Given the description of an element on the screen output the (x, y) to click on. 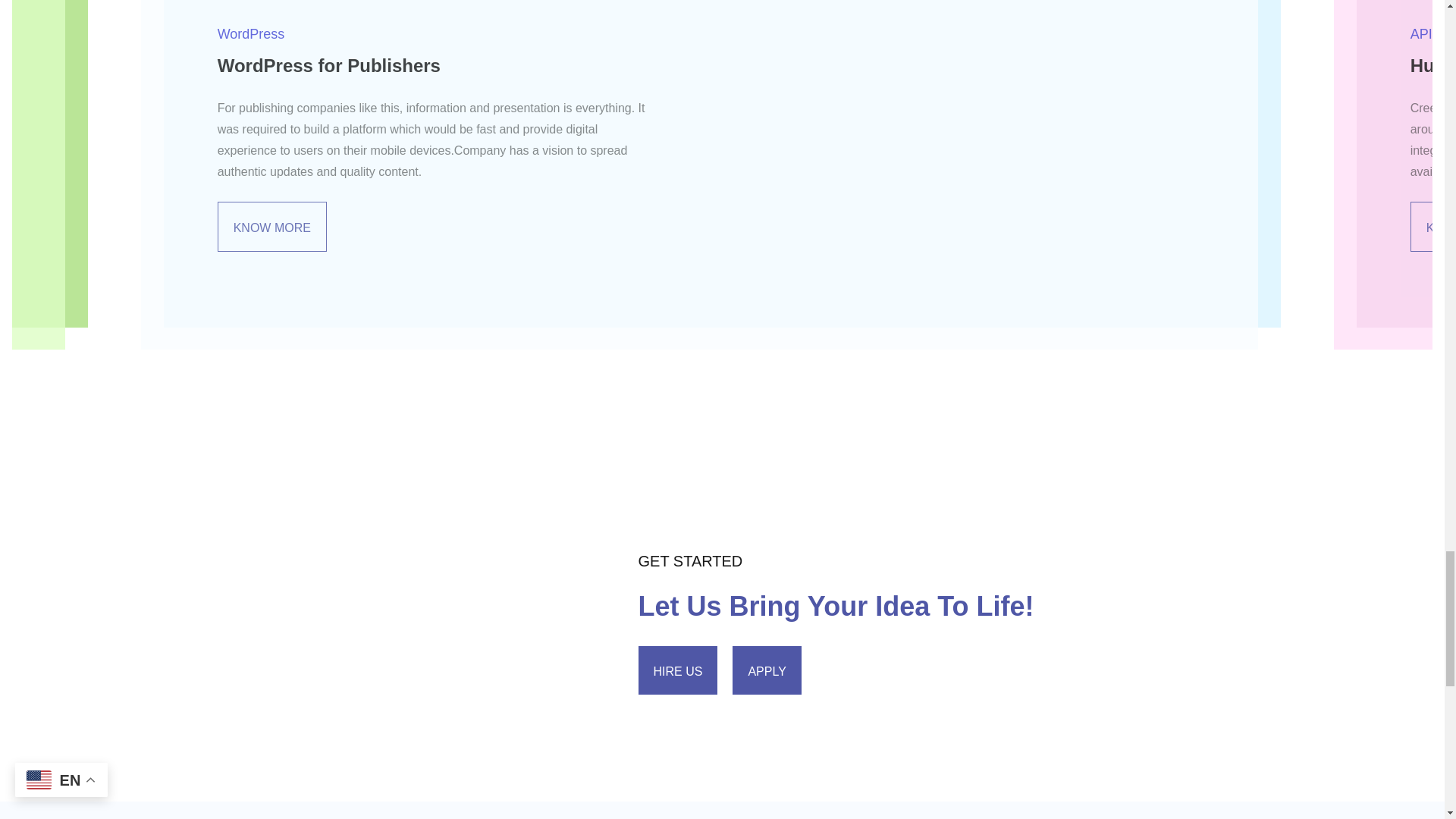
APPLY (766, 670)
HIRE US (678, 670)
WordPress (250, 33)
KNOW MORE (271, 226)
